Given the description of an element on the screen output the (x, y) to click on. 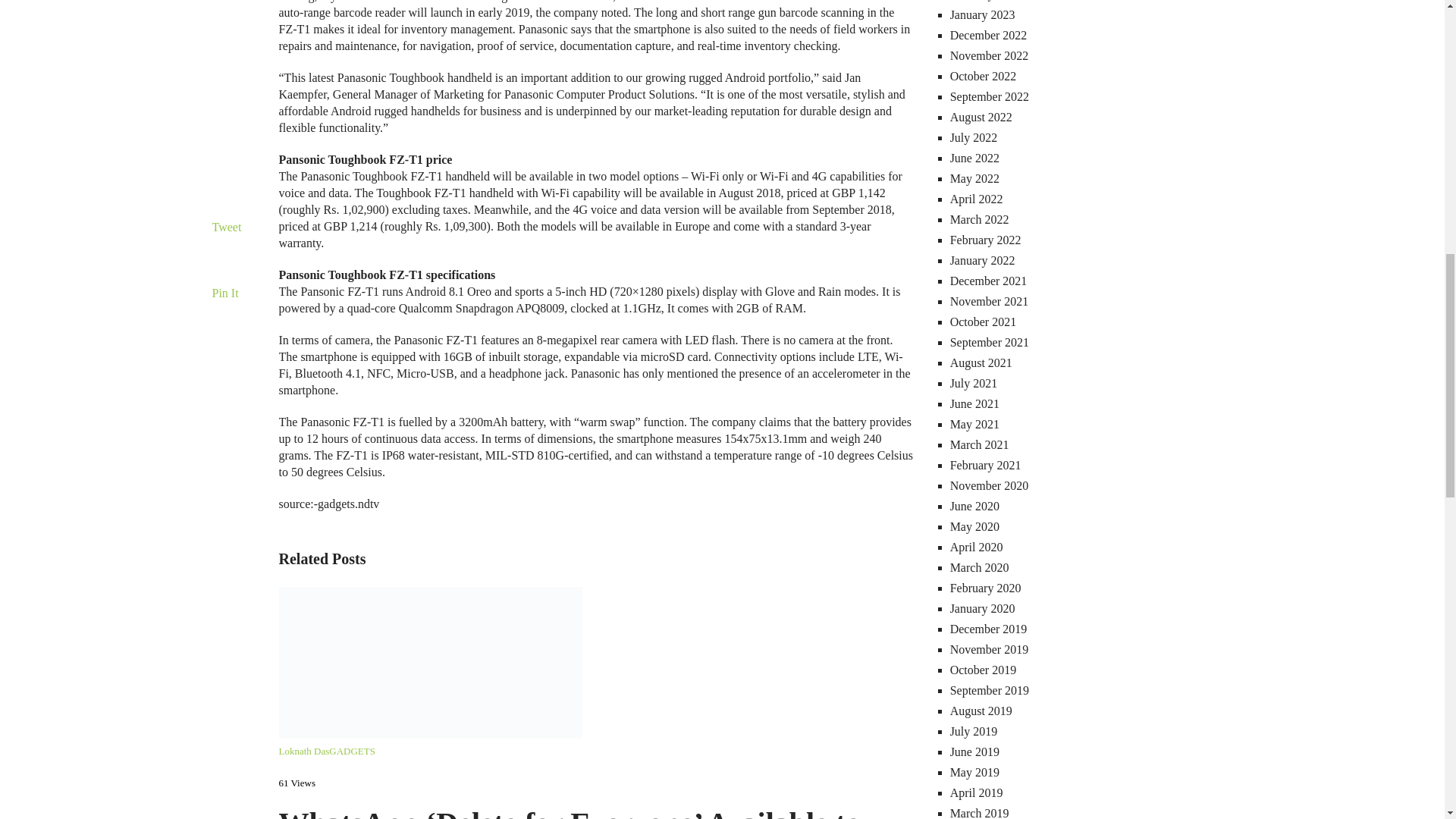
View all posts in Gadgets (352, 750)
Posts by Loknath Das (304, 750)
GADGETS (352, 750)
Loknath Das (304, 750)
